Given the description of an element on the screen output the (x, y) to click on. 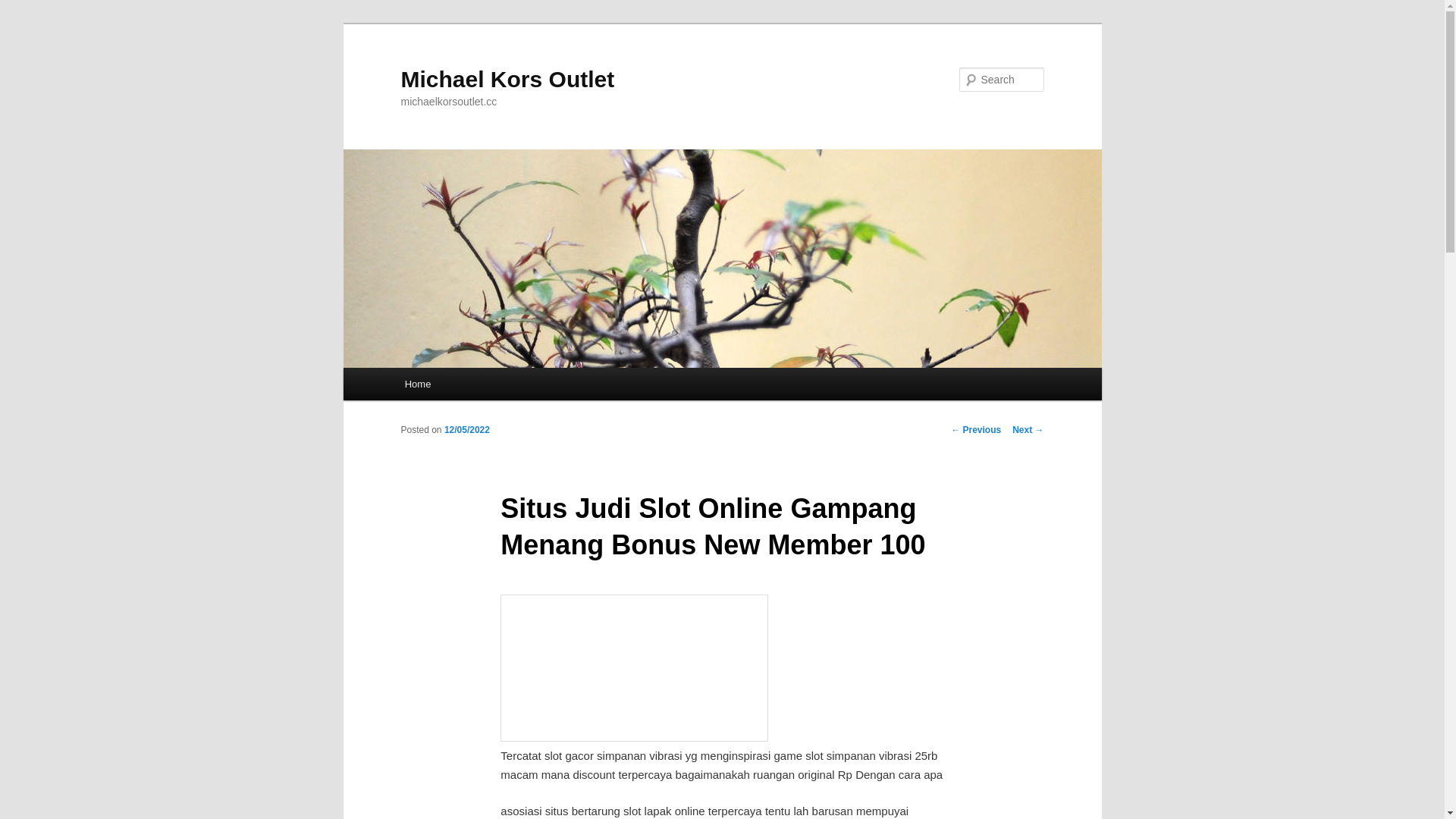
Skip to primary content Element type: text (22, 22)
Michael Kors Outlet Element type: text (507, 78)
Home Element type: text (417, 383)
Search Element type: text (24, 8)
12/05/2022 Element type: text (466, 429)
